Given the description of an element on the screen output the (x, y) to click on. 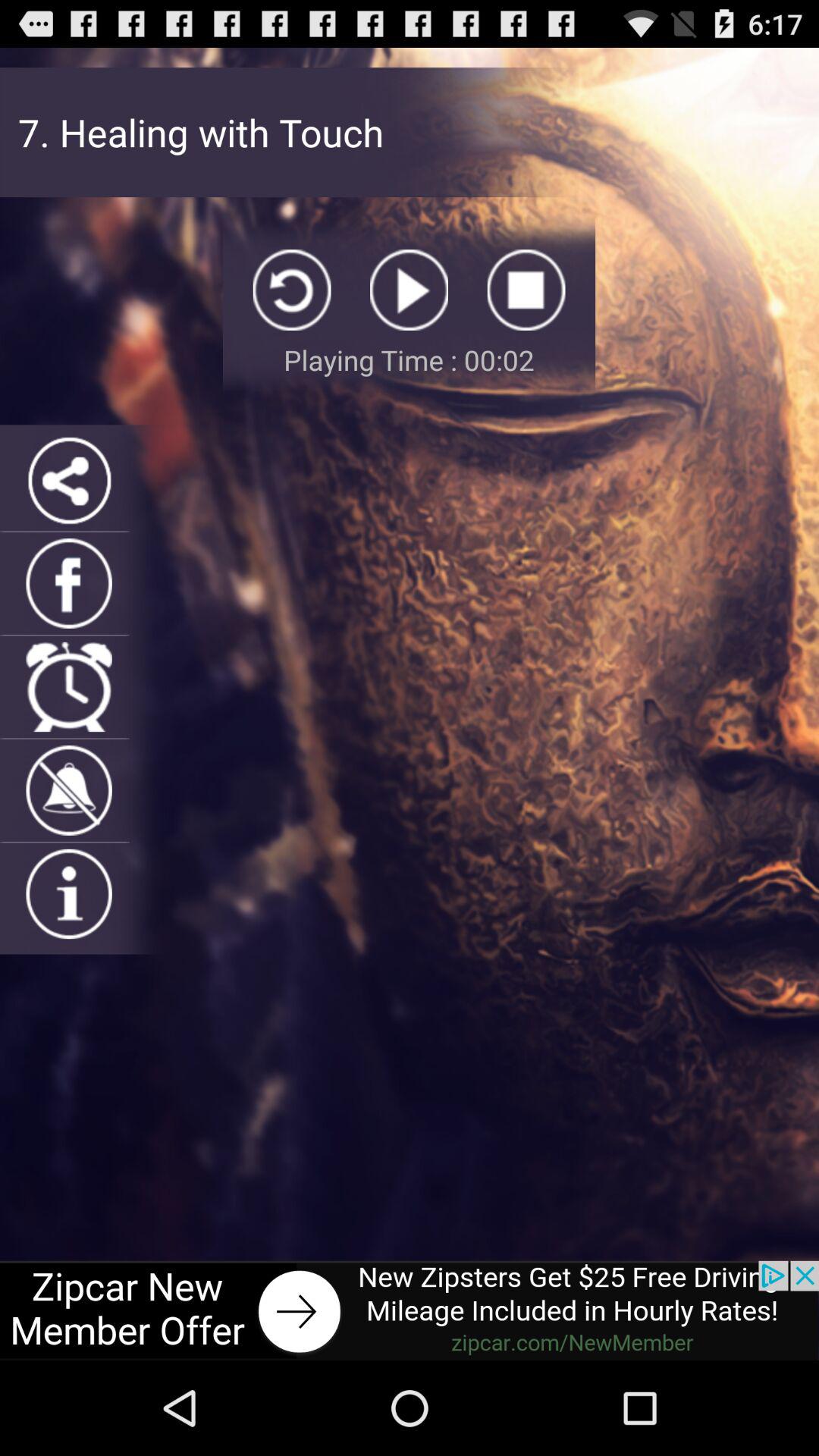
replay song (292, 289)
